Given the description of an element on the screen output the (x, y) to click on. 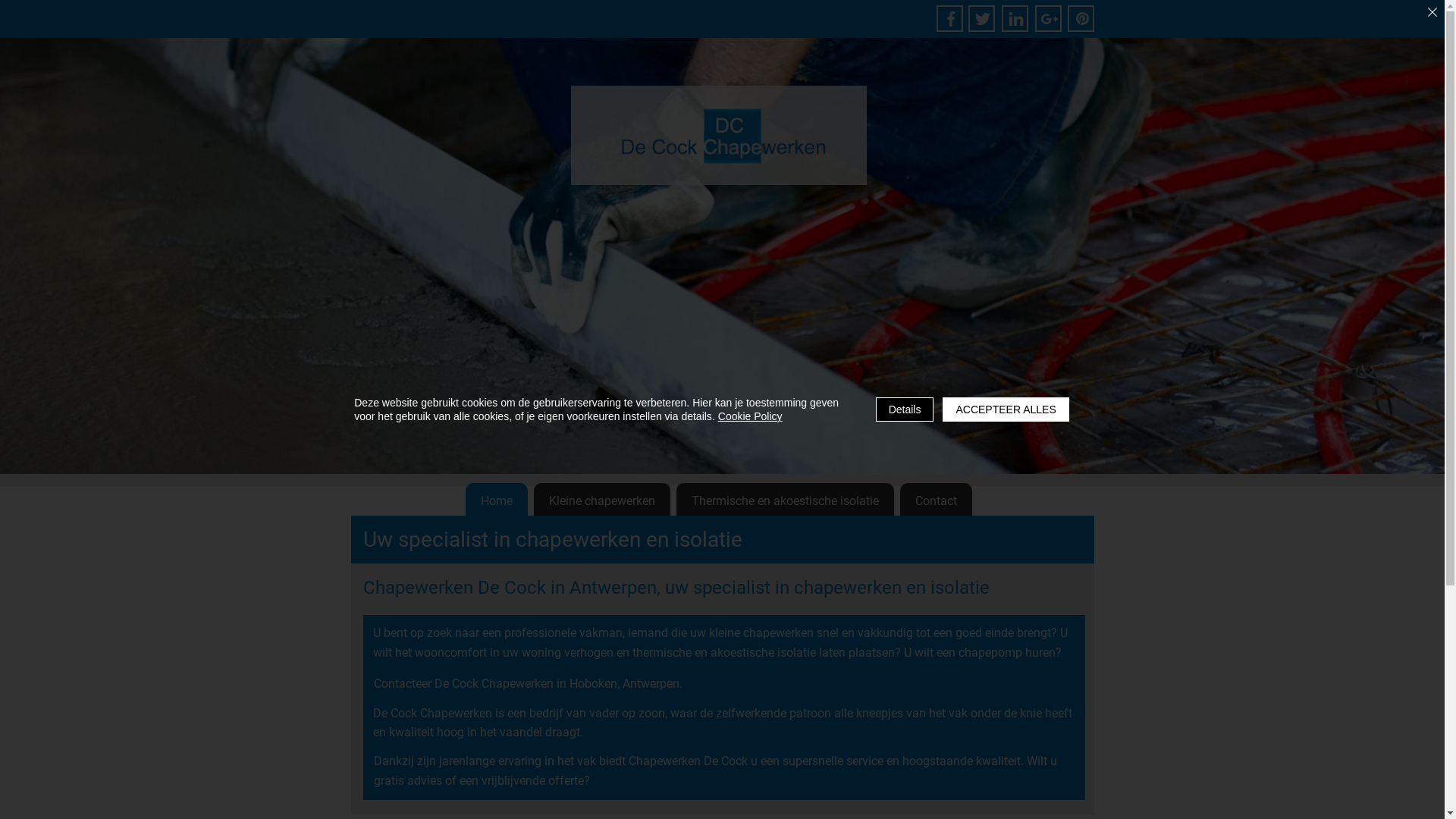
Details Element type: text (904, 409)
Cookie Policy Element type: text (750, 416)
ACCEPTEER ALLES Element type: text (1005, 409)
Home Element type: text (496, 500)
Contact Element type: text (936, 500)
Thermische en akoestische isolatie Element type: text (785, 500)
Kleine chapewerken Element type: text (601, 500)
